Given the description of an element on the screen output the (x, y) to click on. 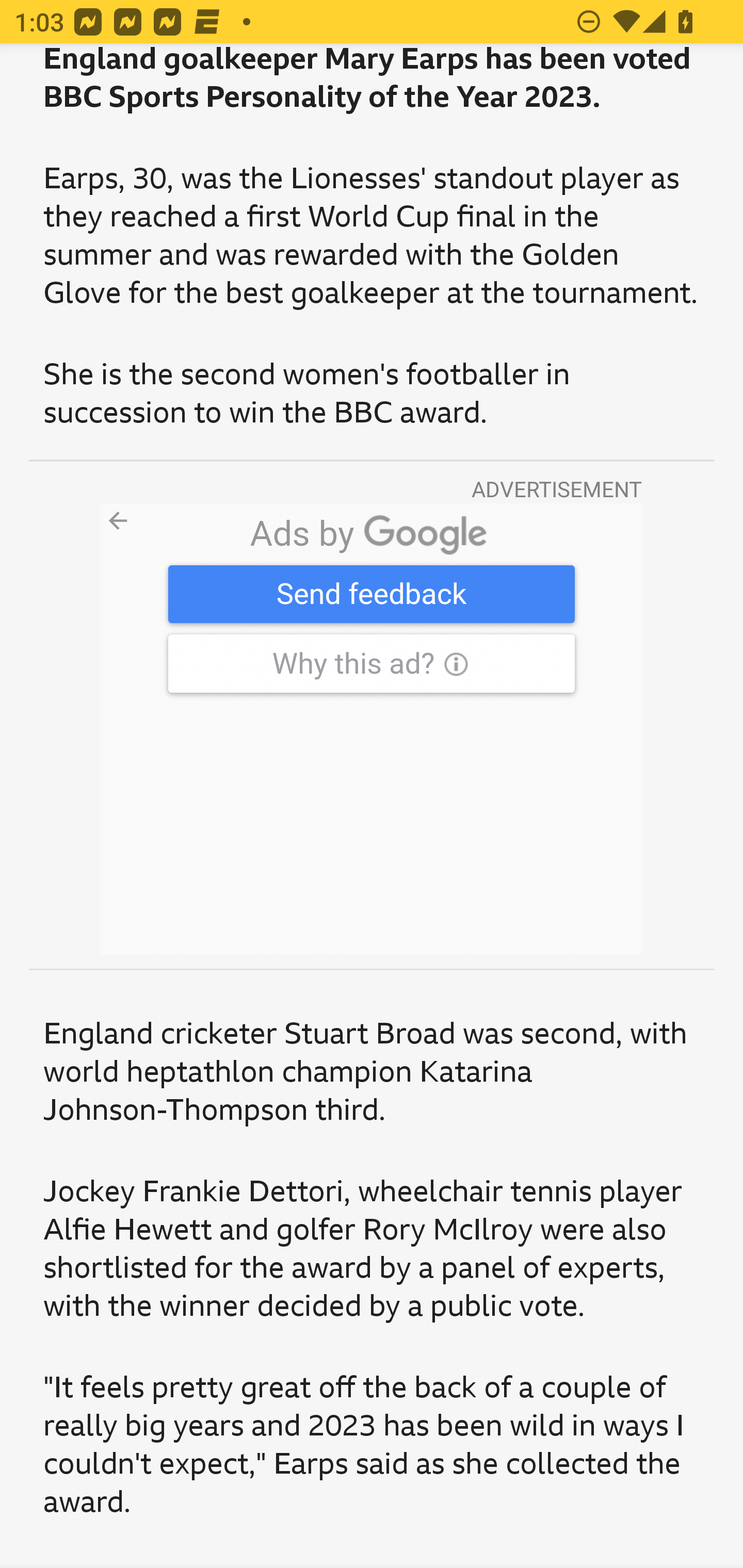
Advertisement (371, 728)
